Given the description of an element on the screen output the (x, y) to click on. 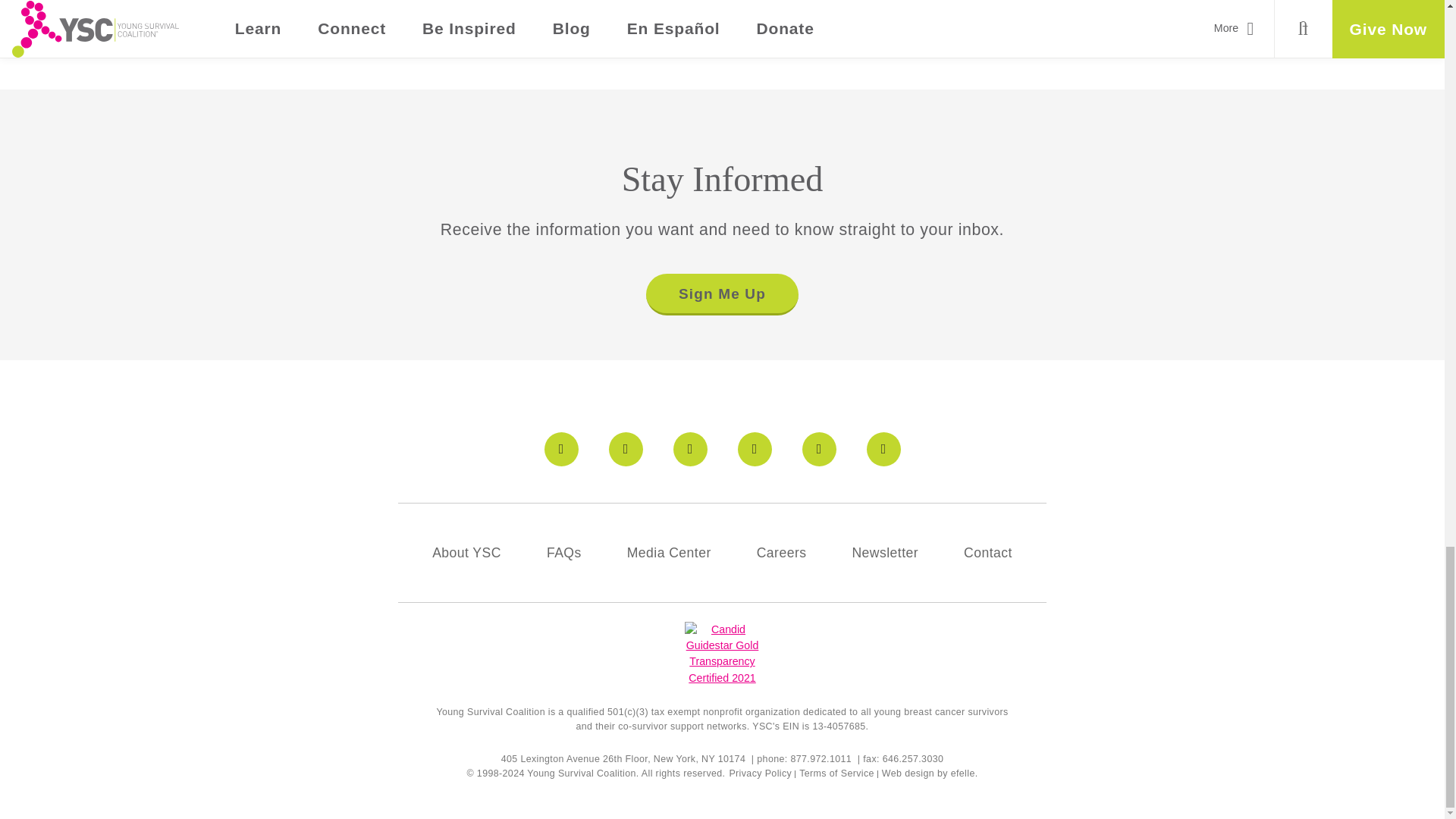
Sign Me Up (721, 294)
Candid Guidestar Gold Transparency Certified 2021 (721, 653)
Web Design By Efelle (908, 773)
